Given the description of an element on the screen output the (x, y) to click on. 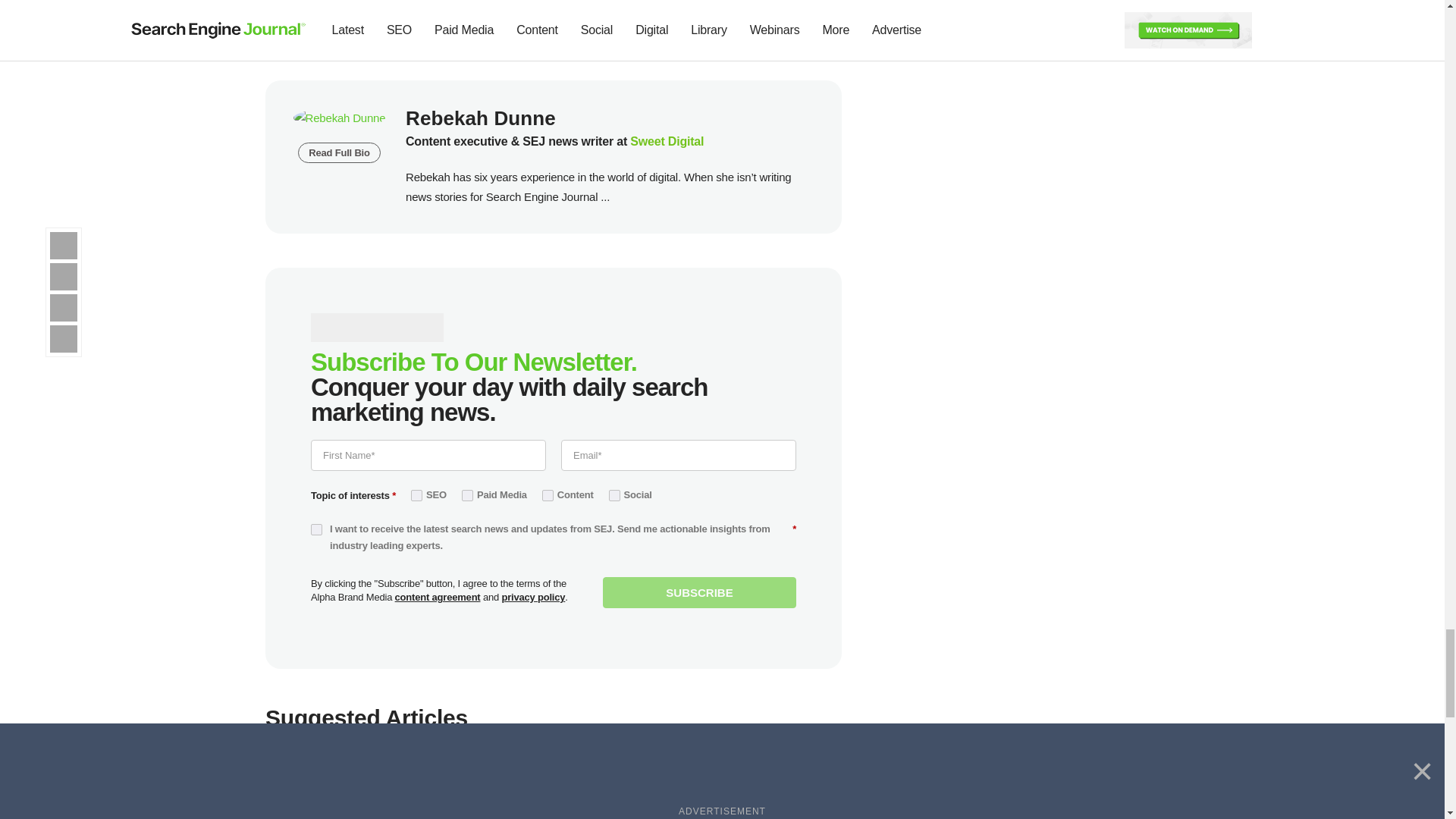
Read the Article (351, 783)
Read the Article (553, 783)
Read the Article (755, 783)
